Given the description of an element on the screen output the (x, y) to click on. 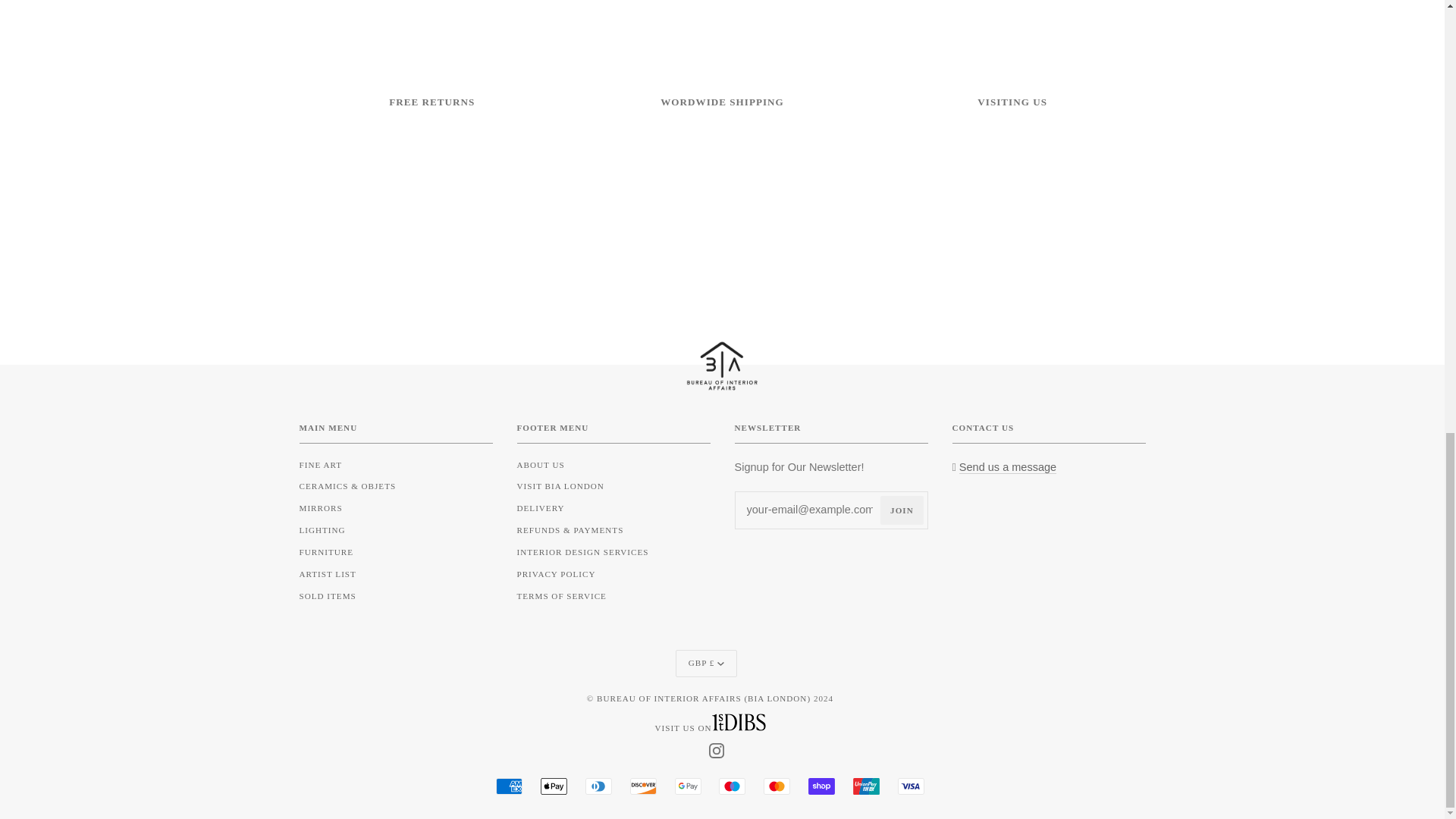
Contact Us (1008, 467)
SHOP PAY (821, 786)
UNION PAY (866, 786)
DISCOVER (643, 786)
MAESTRO (732, 786)
AMERICAN EXPRESS (509, 786)
DINERS CLUB (598, 786)
APPLE PAY (553, 786)
MASTERCARD (776, 786)
GOOGLE PAY (688, 786)
Instagram (715, 748)
